Given the description of an element on the screen output the (x, y) to click on. 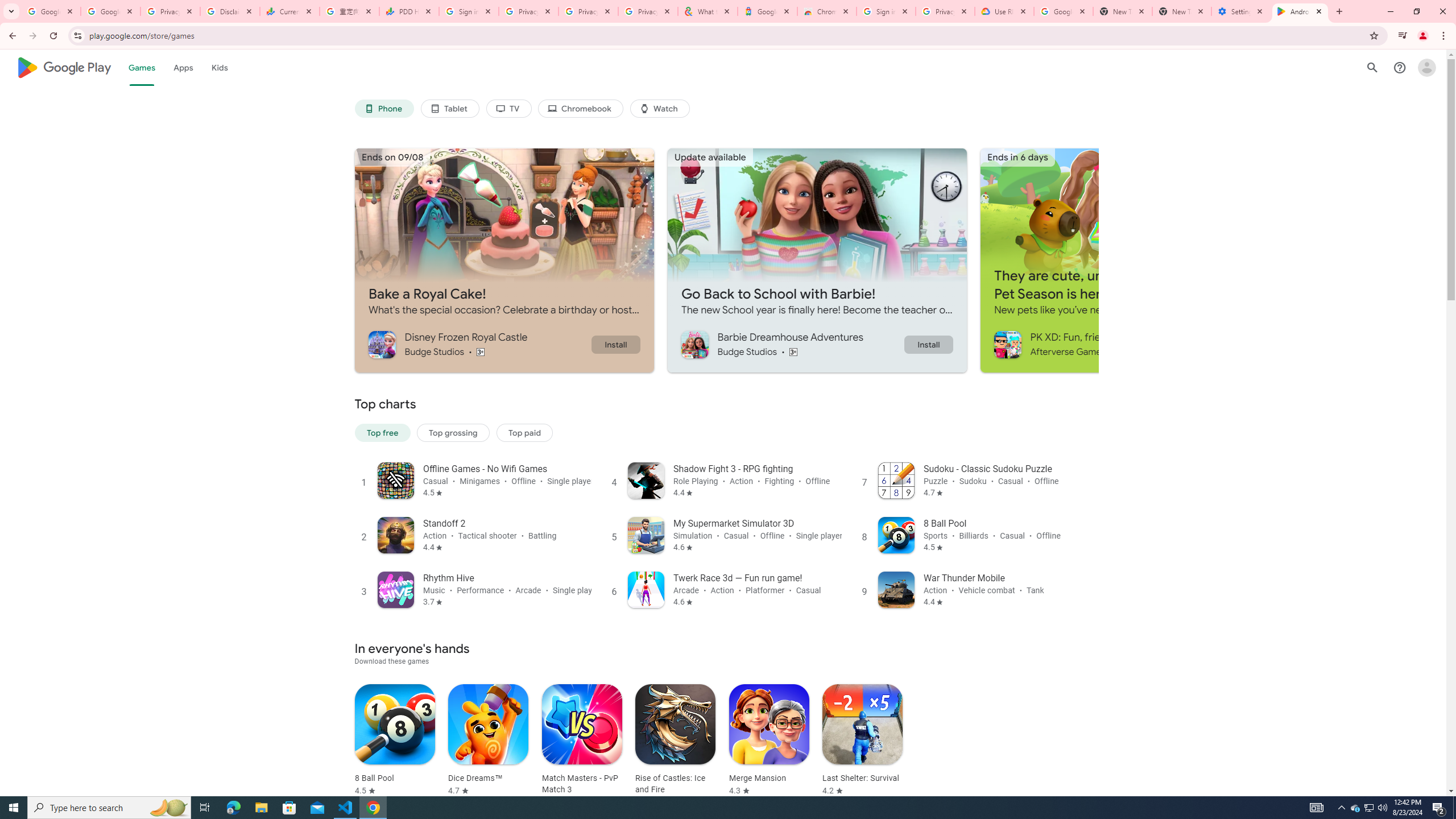
Pin to list (1258, 724)
Print (59, 504)
Info (59, 318)
